Given the description of an element on the screen output the (x, y) to click on. 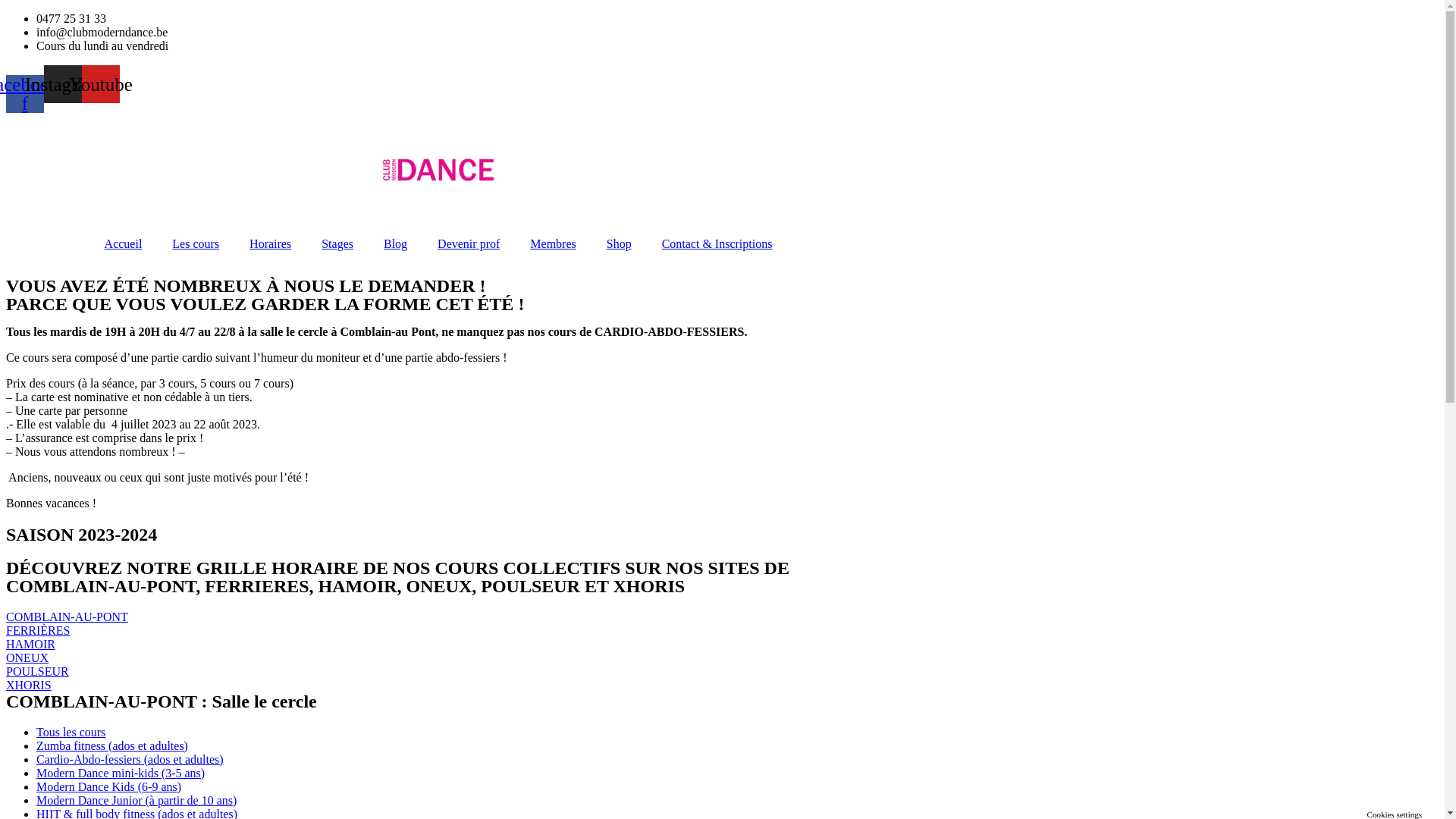
Modern Dance Kids (6-9 ans) Element type: text (108, 785)
Devenir prof Element type: text (468, 242)
Facebook-f Element type: text (24, 93)
Horaires Element type: text (270, 242)
Membres Element type: text (552, 242)
Tous les cours Element type: text (70, 730)
XHORIS Element type: text (28, 683)
Contact & Inscriptions Element type: text (716, 242)
Modern Dance mini-kids (3-5 ans) Element type: text (120, 771)
ONEUX Element type: text (27, 656)
Blog Element type: text (395, 242)
Stages Element type: text (337, 242)
POULSEUR Element type: text (37, 670)
Zumba fitness (ados et adultes) Element type: text (112, 744)
Aller au contenu Element type: text (6, 12)
Shop Element type: text (618, 242)
Accueil Element type: text (123, 242)
HAMOIR Element type: text (30, 643)
Cardio-Abdo-fessiers (ados et adultes) Element type: text (129, 758)
COMBLAIN-AU-PONT Element type: text (67, 615)
Youtube Element type: text (100, 84)
Instagram Element type: text (62, 84)
Les cours Element type: text (195, 242)
